Given the description of an element on the screen output the (x, y) to click on. 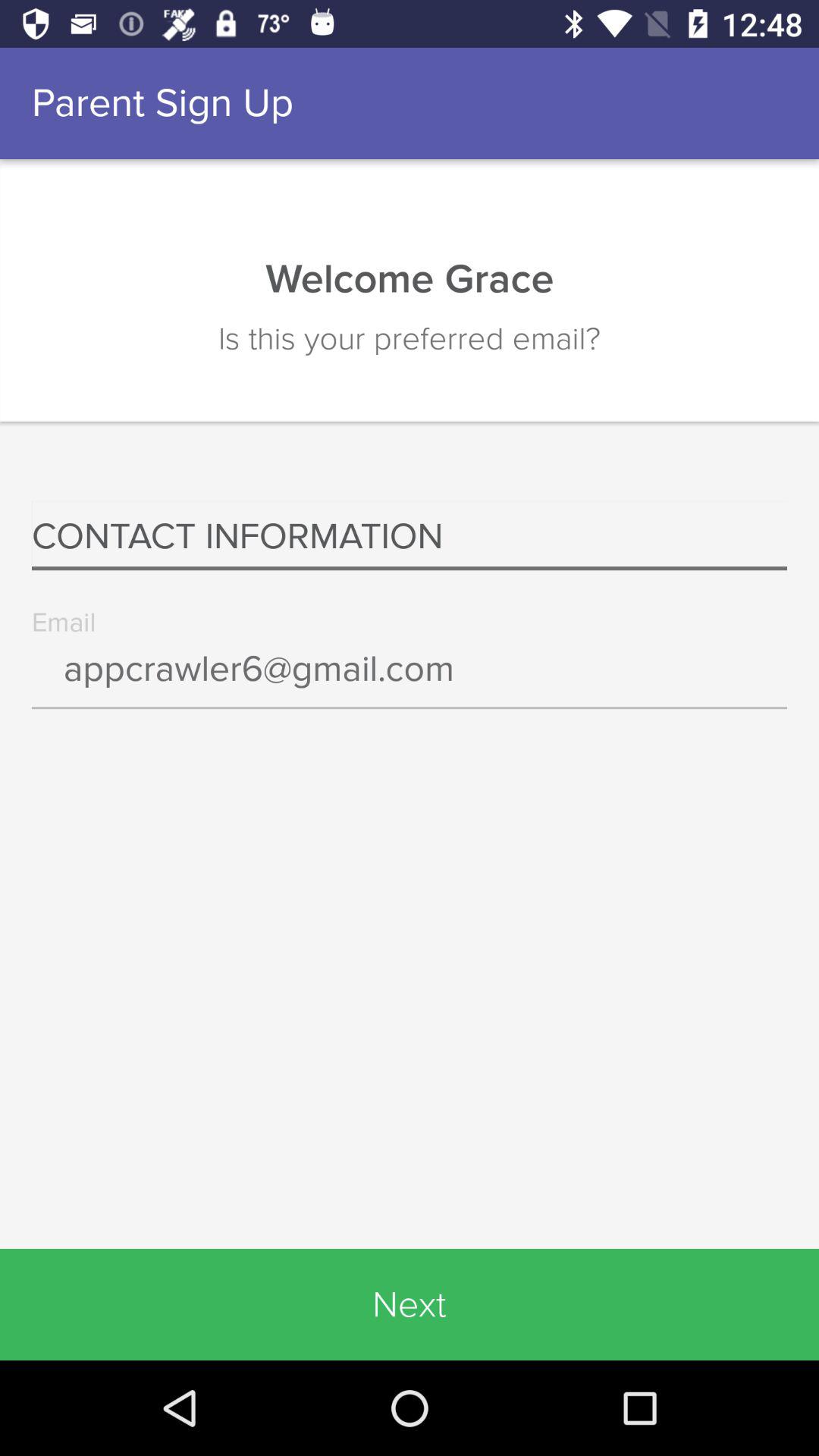
jump until next (409, 1304)
